Given the description of an element on the screen output the (x, y) to click on. 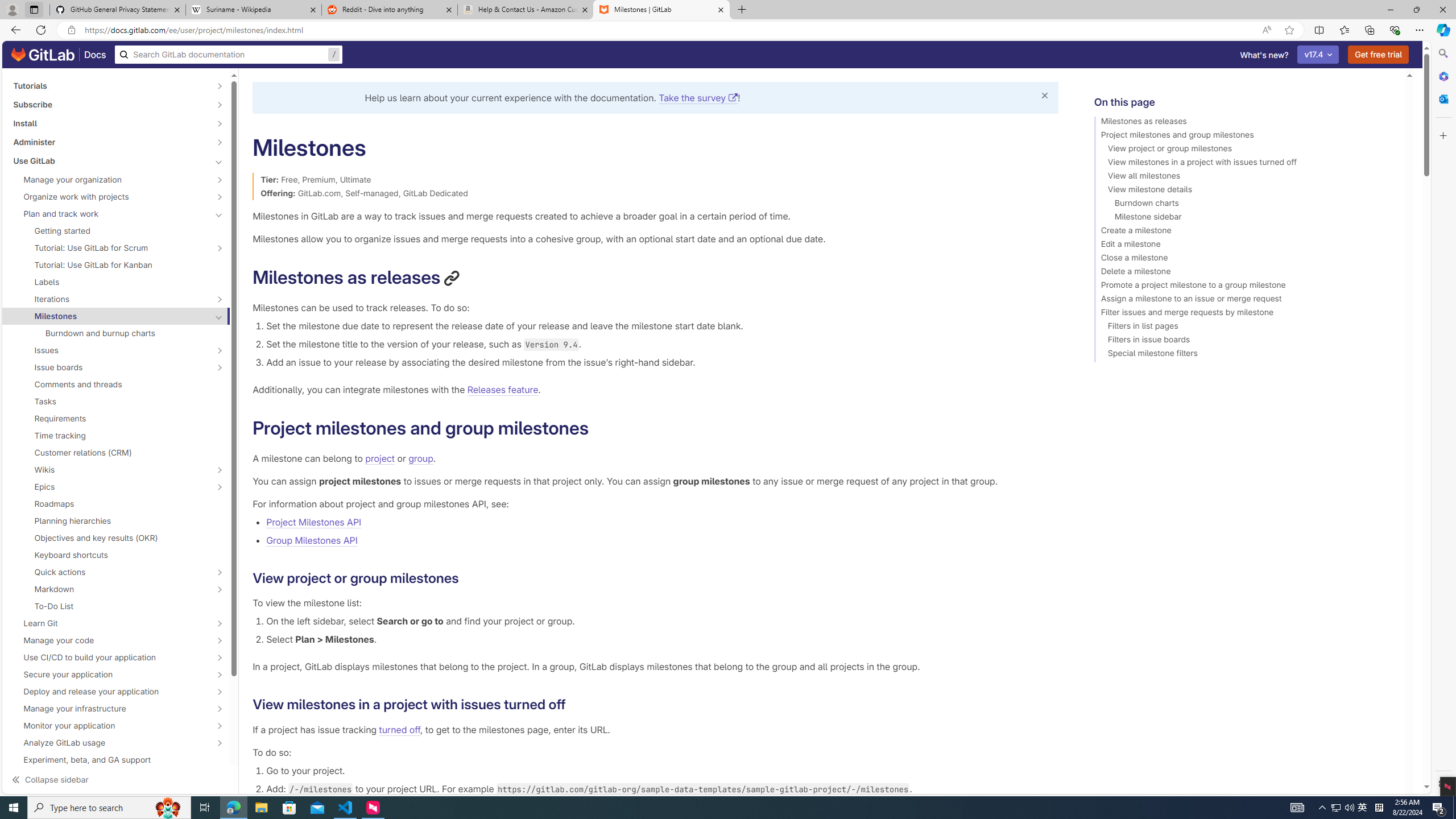
Tasks (116, 401)
GitLab documentation home (42, 54)
turned off (399, 729)
Go to your project. (662, 770)
Roadmaps (116, 503)
View milestones in a project with issues turned off (1244, 164)
Milestones as releases (1244, 123)
View all milestones (1244, 177)
Experiment, beta, and GA support (116, 759)
Manage your infrastructure (109, 708)
View project or group milestones (1244, 150)
